Given the description of an element on the screen output the (x, y) to click on. 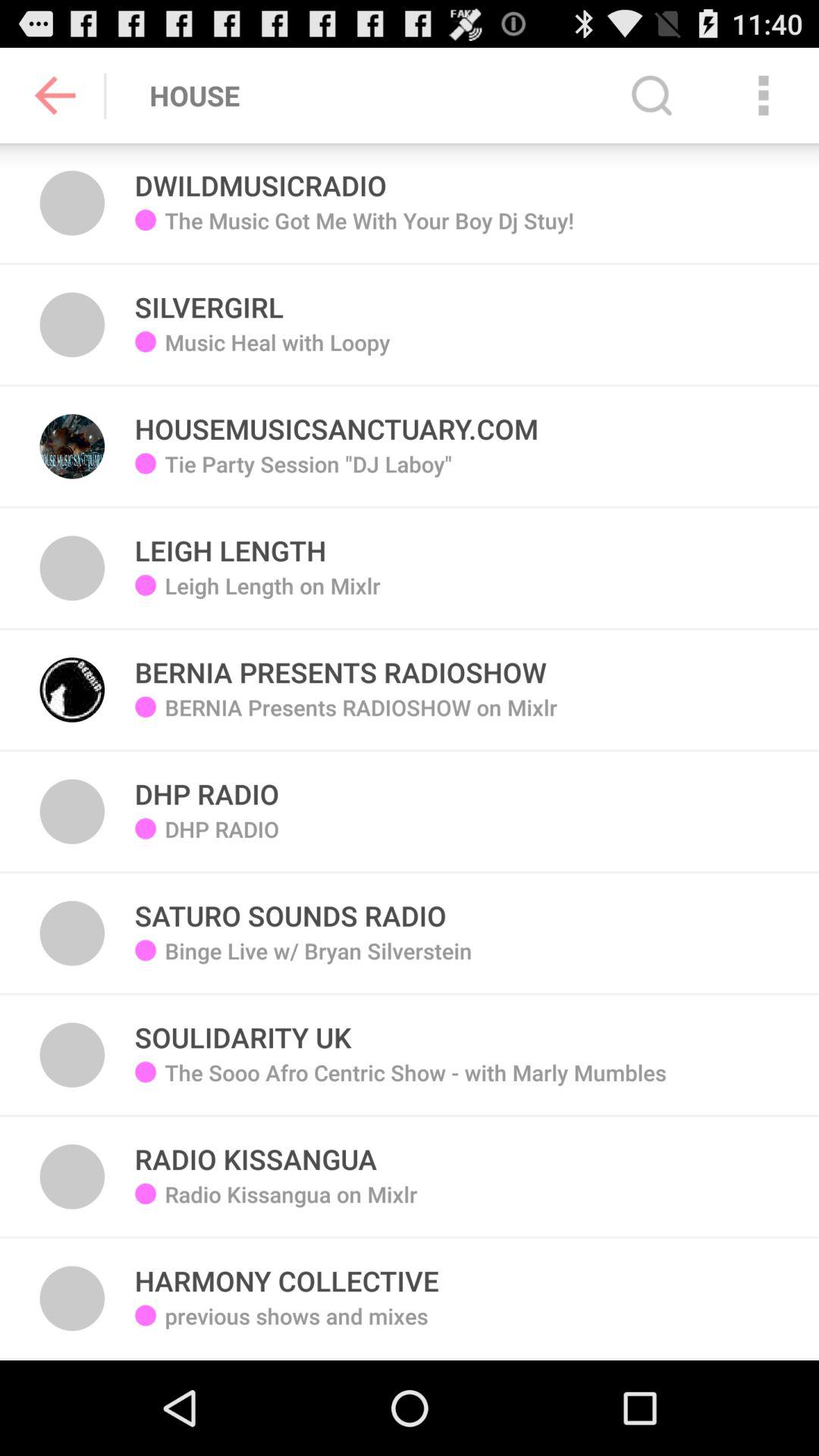
tap icon below music heal with (336, 420)
